Given the description of an element on the screen output the (x, y) to click on. 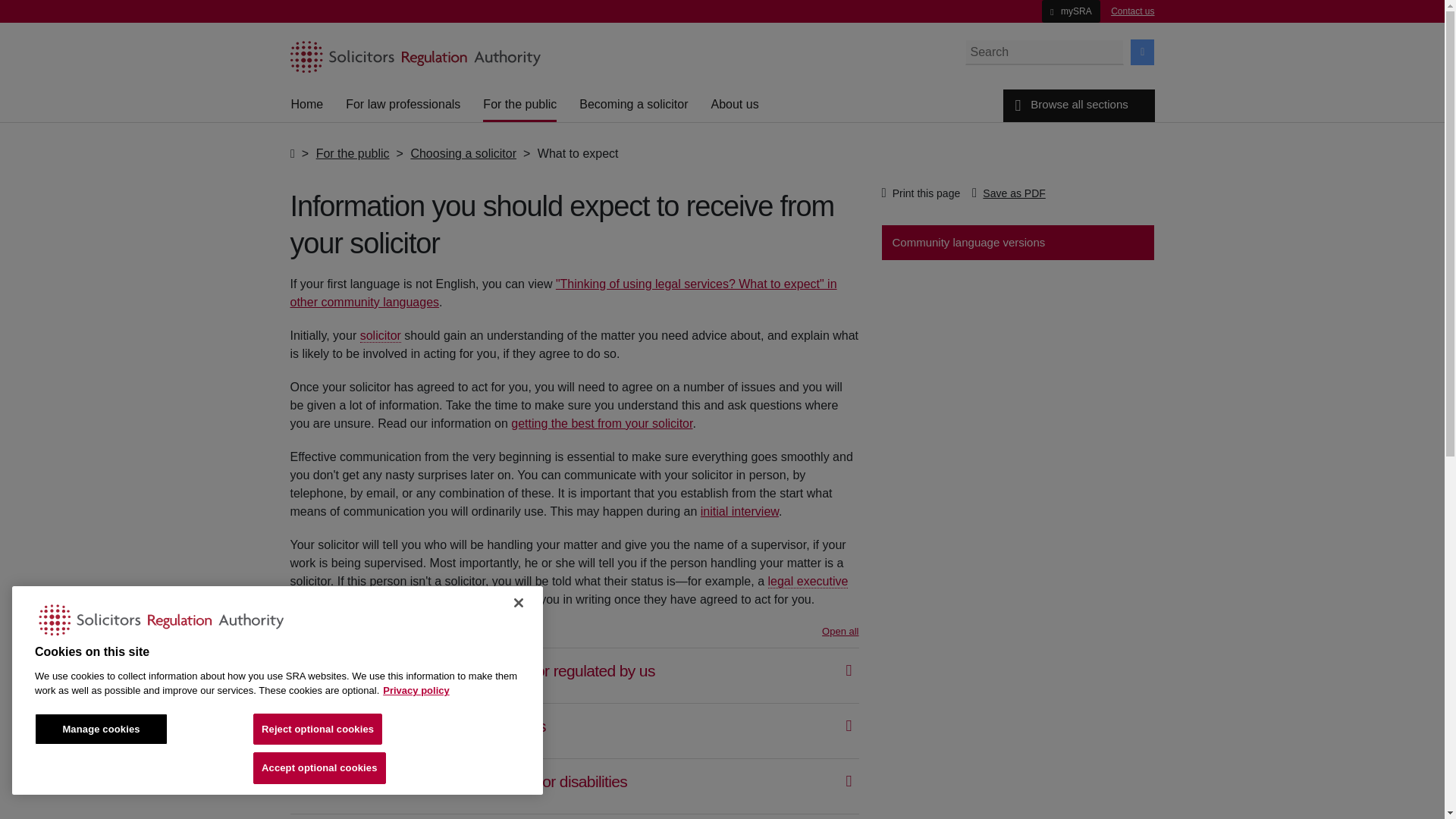
Browse all sections (1078, 105)
Becoming a solicitor (633, 105)
About us (734, 105)
Get definition for trainee (333, 599)
About us  (734, 105)
Becoming a solicitor (633, 105)
mySRA (1070, 11)
Solictors Regulation Authority Logo (160, 615)
Get definition for legal executive (807, 581)
For the public (519, 105)
For the public (519, 105)
Home (307, 105)
solicitor (380, 336)
Home (307, 105)
For the public (352, 153)
